Given the description of an element on the screen output the (x, y) to click on. 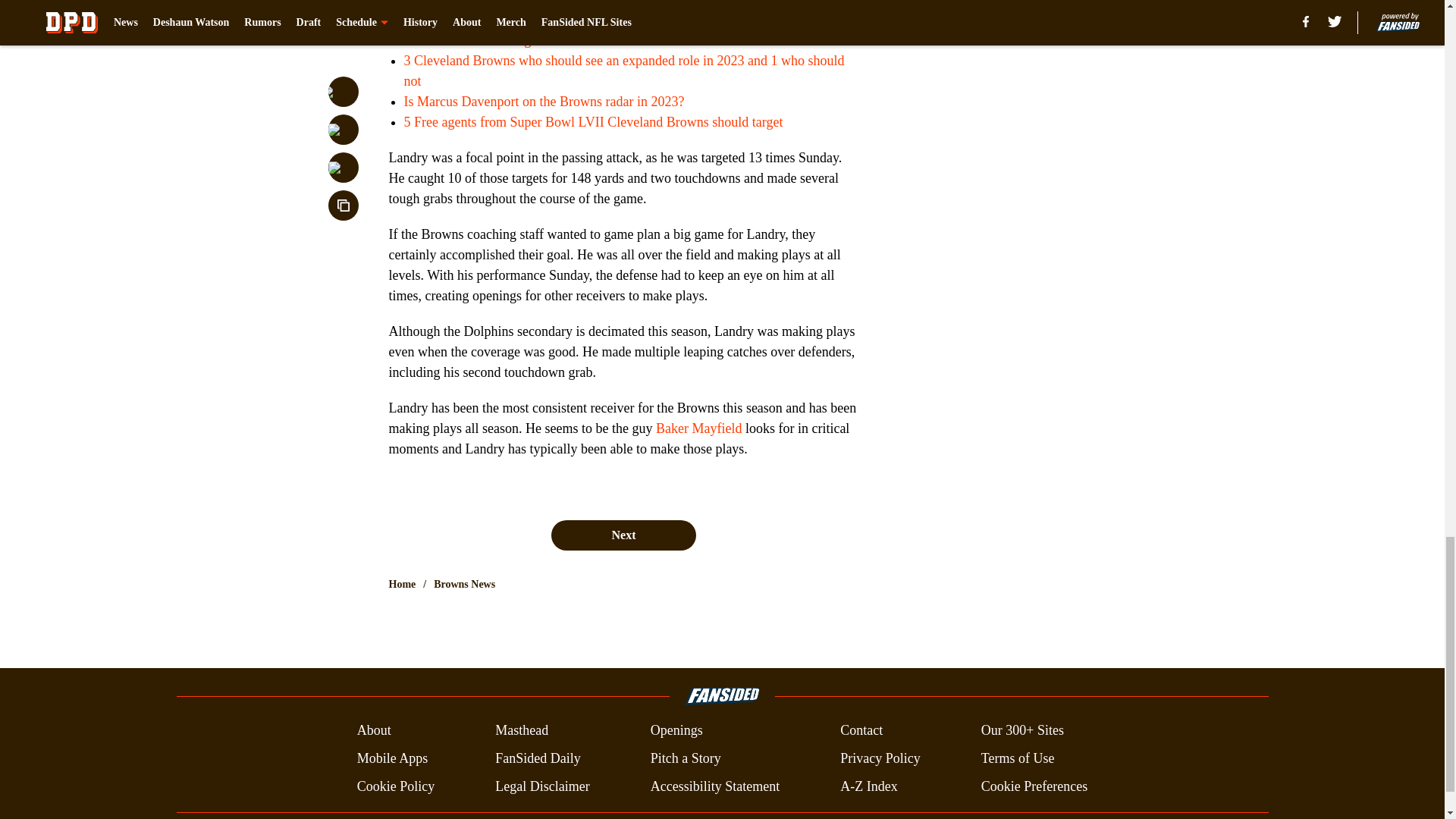
Contact (861, 730)
Home (401, 584)
How the Browns could maximize Nick Chubb in 2023 (552, 19)
Openings (676, 730)
About (373, 730)
FanSided Daily (537, 758)
Is Marcus Davenport on the Browns radar in 2023? (543, 101)
Next (622, 535)
Baker Mayfield (698, 427)
Masthead (521, 730)
Browns News (464, 584)
Mobile Apps (392, 758)
